Given the description of an element on the screen output the (x, y) to click on. 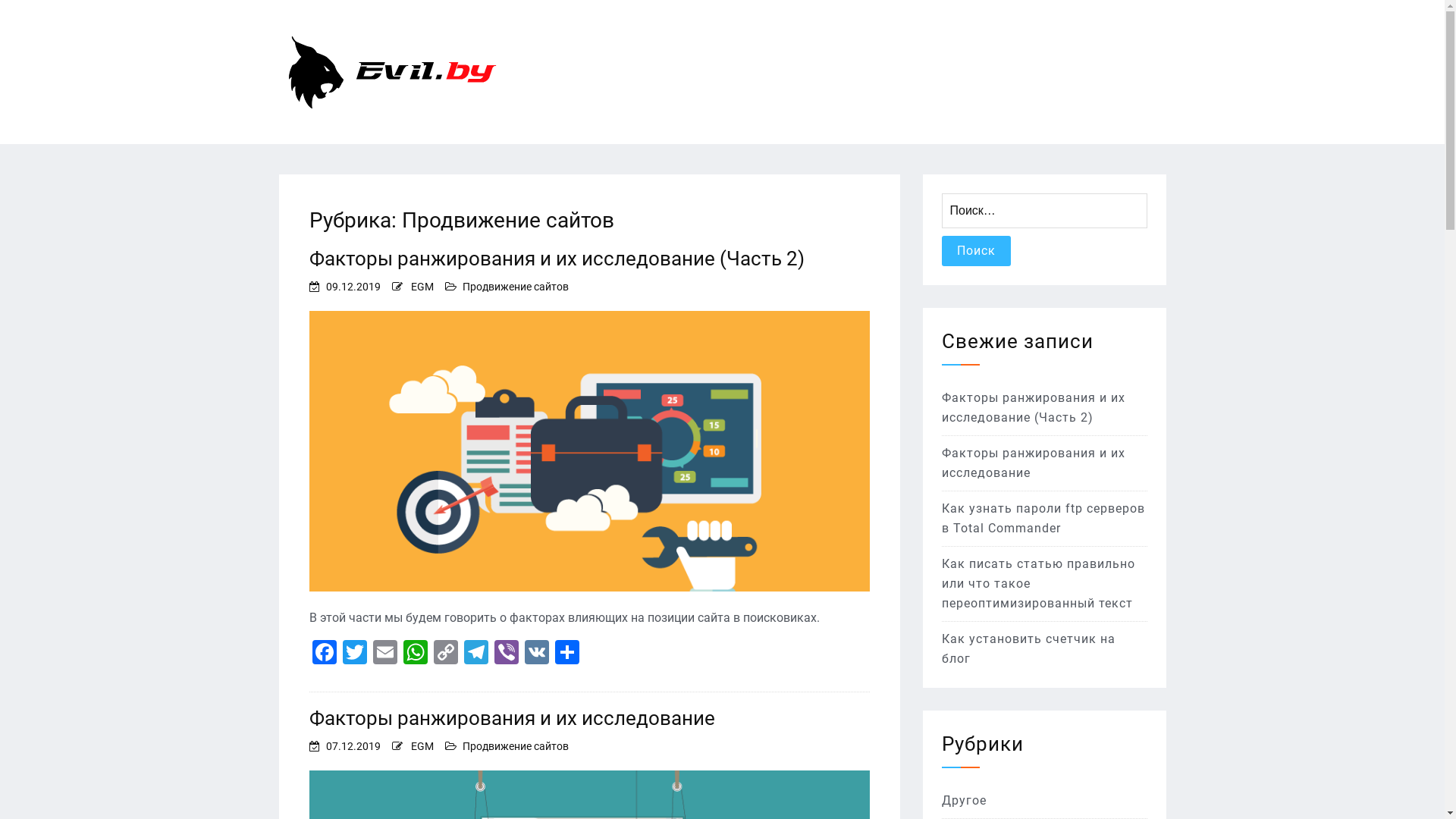
Viber Element type: text (506, 654)
Facebook Element type: text (324, 654)
07.12.2019 Element type: text (353, 746)
EGM Element type: text (422, 746)
Email Element type: text (385, 654)
Twitter Element type: text (354, 654)
WhatsApp Element type: text (415, 654)
EGM Element type: text (422, 286)
VK Element type: text (536, 654)
09.12.2019 Element type: text (353, 286)
Telegram Element type: text (476, 654)
Copy Link Element type: text (445, 654)
